Given the description of an element on the screen output the (x, y) to click on. 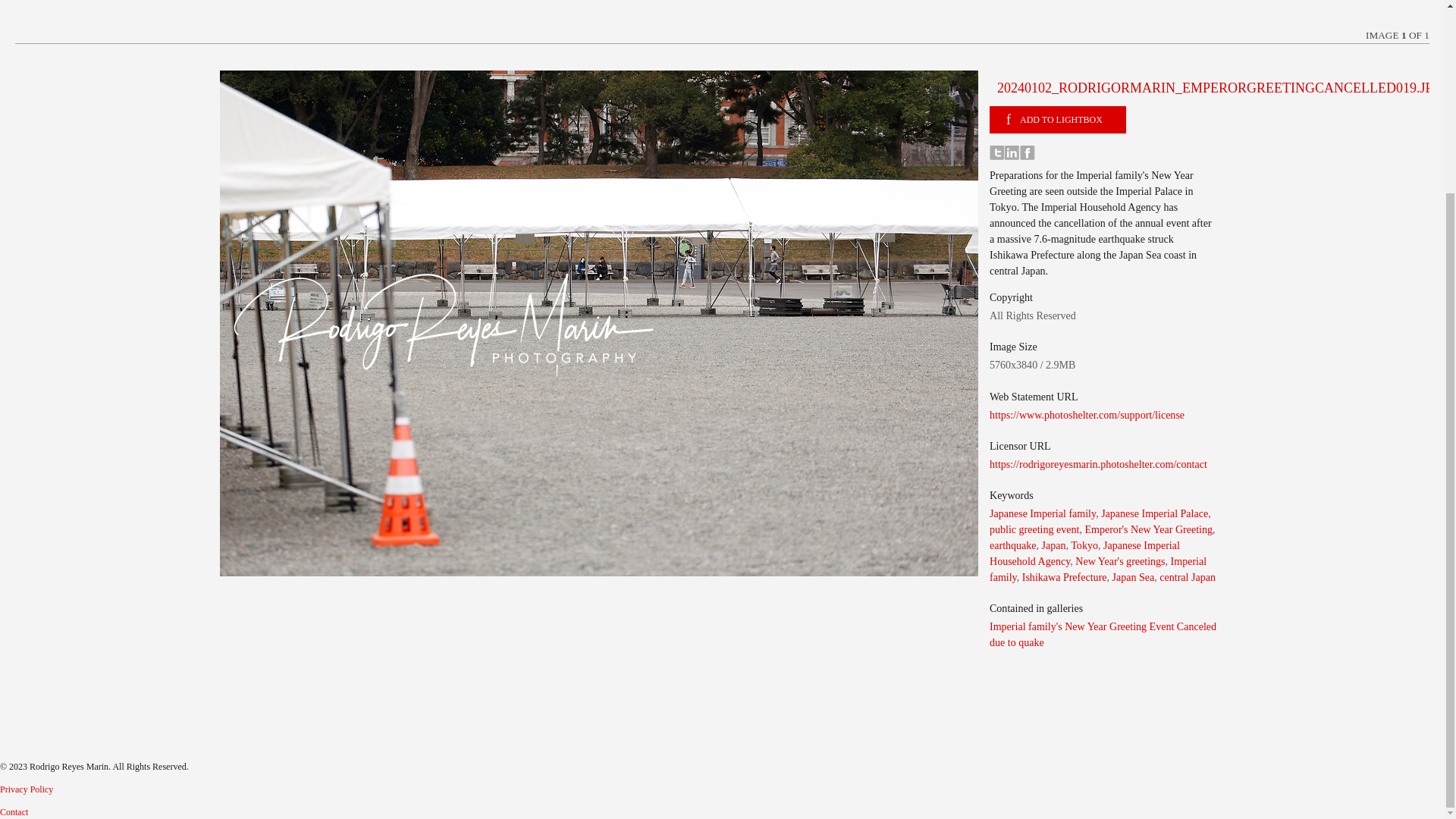
Ishikawa Prefecture (1064, 576)
Japanese Imperial Household Agency (1084, 552)
Emperor's New Year Greeting (1148, 529)
Japan (1053, 544)
Tokyo (1083, 544)
Imperial family (1098, 569)
public greeting event (1034, 529)
Japan Sea (1133, 576)
Japanese Imperial Palace (1154, 512)
Japanese Imperial family (1043, 512)
